Given the description of an element on the screen output the (x, y) to click on. 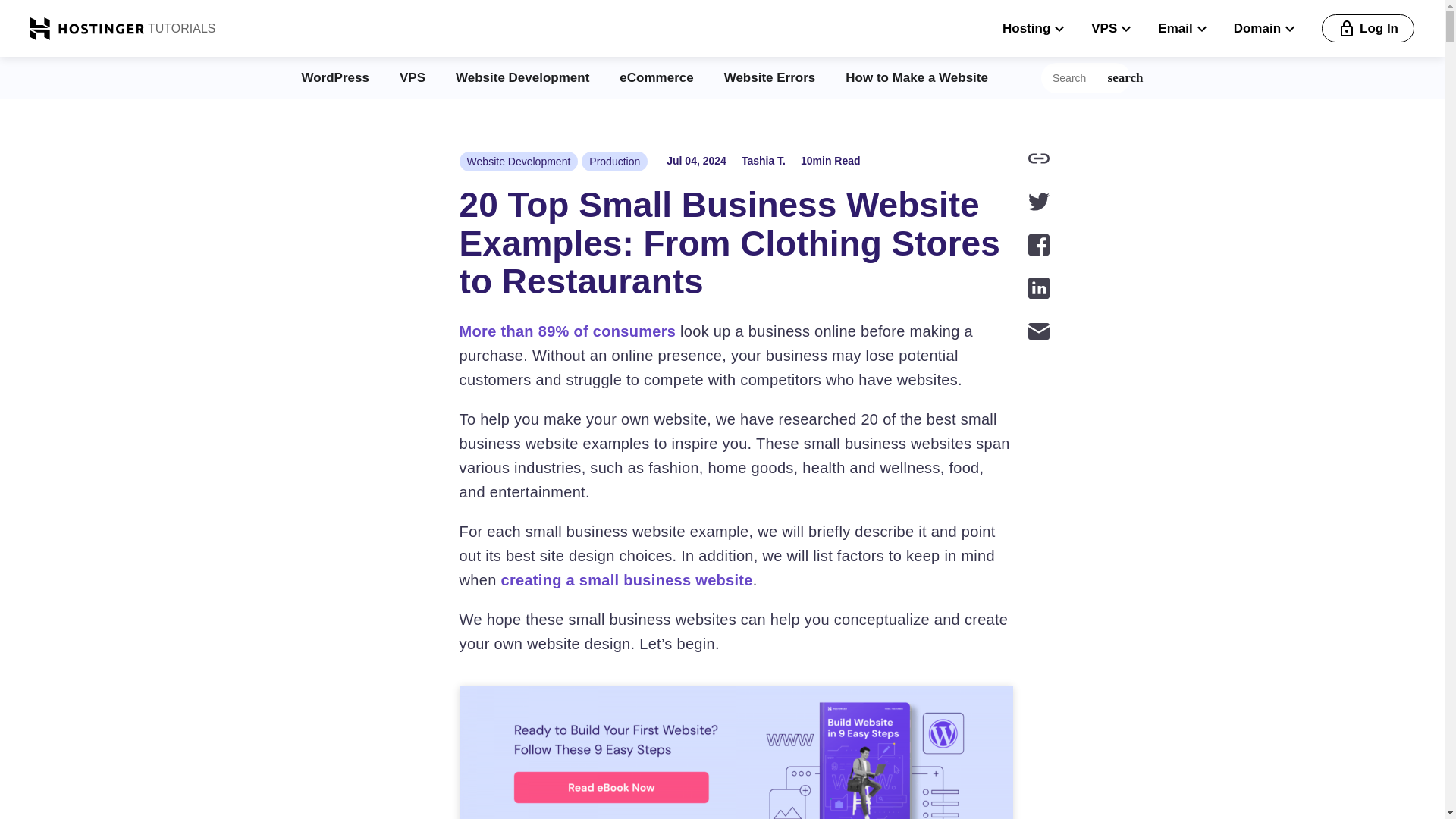
Website Errors (769, 77)
eCommerce (656, 77)
Website Development (519, 161)
How to Make a Website (916, 77)
TUTORIALS (179, 28)
creating a small business website (626, 579)
VPS (411, 77)
Log In (1367, 28)
Production (613, 161)
Website Development (522, 77)
WordPress (335, 77)
